Given the description of an element on the screen output the (x, y) to click on. 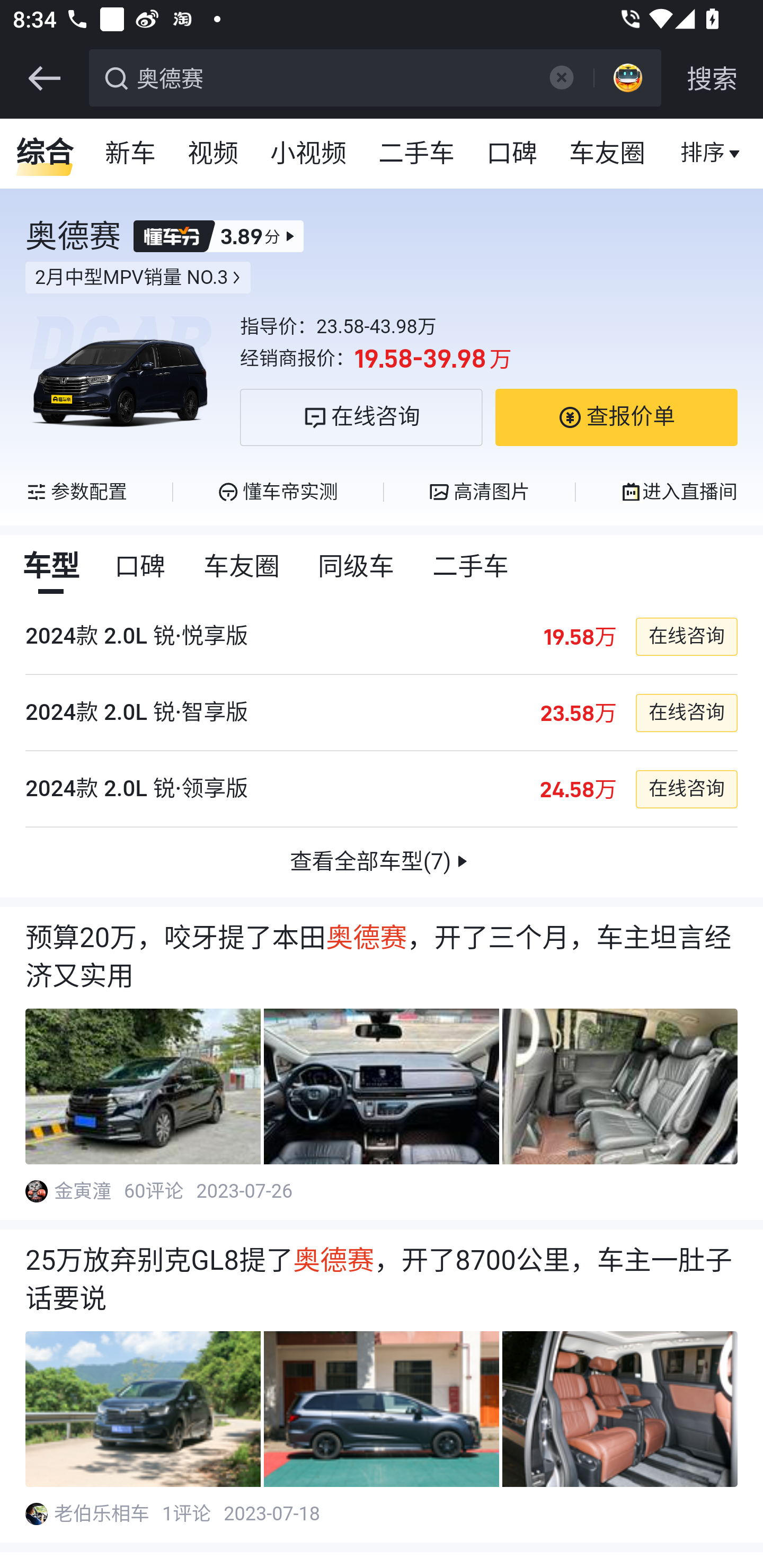
奥德赛 (331, 76)
 (560, 77)
 (44, 78)
搜索 (711, 78)
综合 (44, 153)
新车 (131, 153)
视频 (213, 153)
小视频 (308, 153)
二手车 (417, 153)
口碑 (512, 153)
车友圈 (608, 153)
直播 (703, 153)
3.89 分 (218, 236)
2月中型MPV销量 NO.3 (138, 277)
经销商报价： 19.58-39.98 万 (488, 358)
在线咨询 (361, 416)
查报价单 (615, 416)
参数配置 (76, 492)
懂车帝实测 (276, 492)
高清图片 (479, 492)
进入直播间 (677, 492)
车型 (51, 566)
口碑 (140, 566)
车友圈 (242, 566)
同级车 (357, 566)
二手车 (471, 566)
2024款 2.0L 锐·悦享版 19.58万 在线咨询 (381, 636)
19.58万 (578, 636)
在线咨询 (685, 636)
2024款 2.0L 锐·智享版 23.58万 在线咨询 (381, 712)
23.58万 (577, 713)
在线咨询 (685, 713)
2024款 2.0L 锐·领享版 24.58万 在线咨询 (381, 789)
24.58万 (577, 789)
在线咨询 (685, 789)
查看全部车型(7) (381, 861)
预算20万，咬牙提了本田奥德赛，开了三个月，车主坦言经济又实用 (381, 956)
金寅潼 (83, 1191)
dc5a7b0bc87c14404d82548c4798256c~300x300 (36, 1191)
25万放弃别克GL8提了奥德赛，开了8700公里，车主一肚子话要说 (381, 1279)
老伯乐相车 (102, 1513)
e48409dffa9756fc41ed033cde9864b4~300x300 (36, 1513)
